Given the description of an element on the screen output the (x, y) to click on. 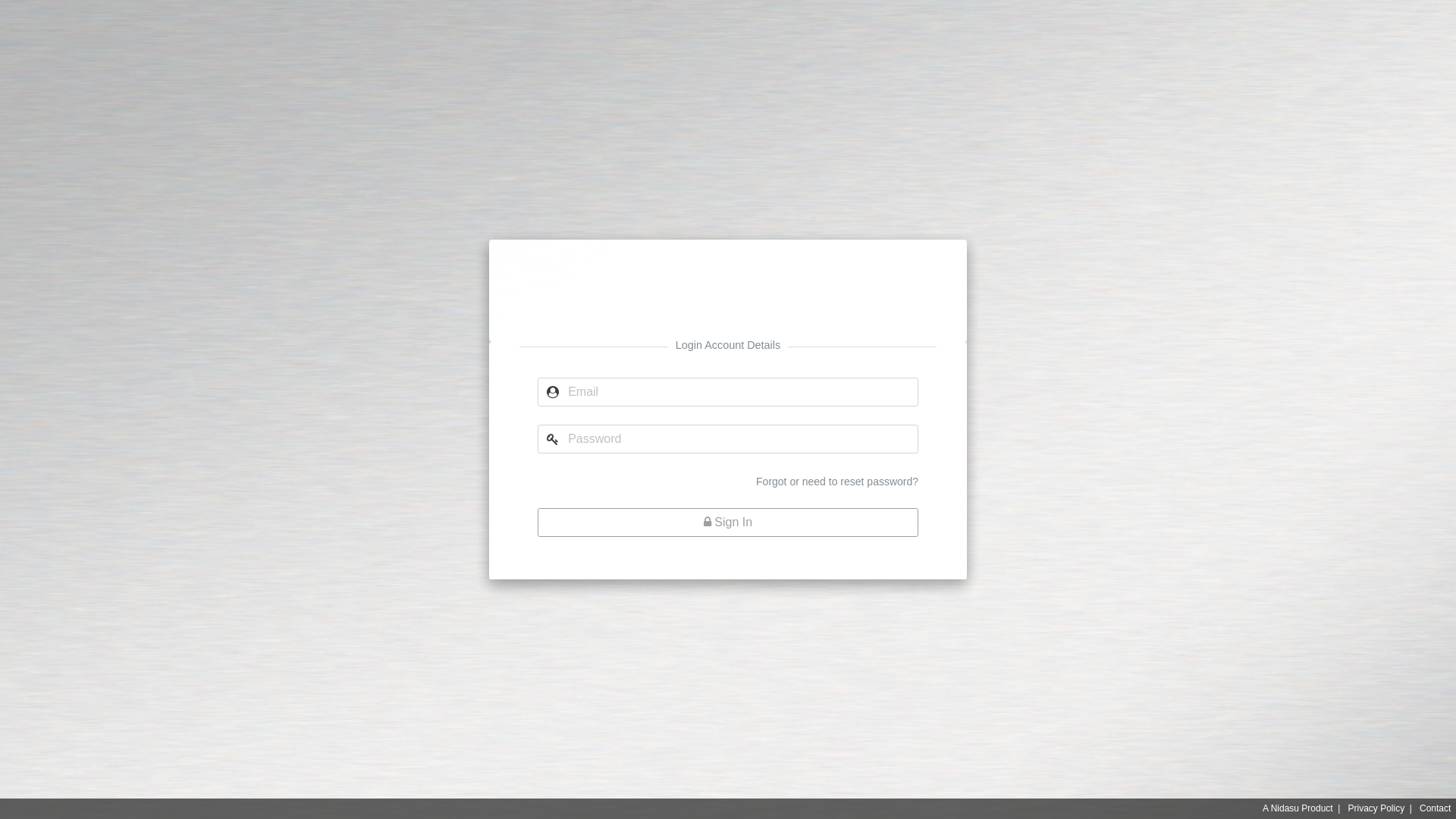
Forgot or need to reset password? Element type: text (837, 481)
Contact Element type: text (1434, 808)
Sign In Element type: text (727, 522)
Privacy Policy Element type: text (1375, 808)
